Given the description of an element on the screen output the (x, y) to click on. 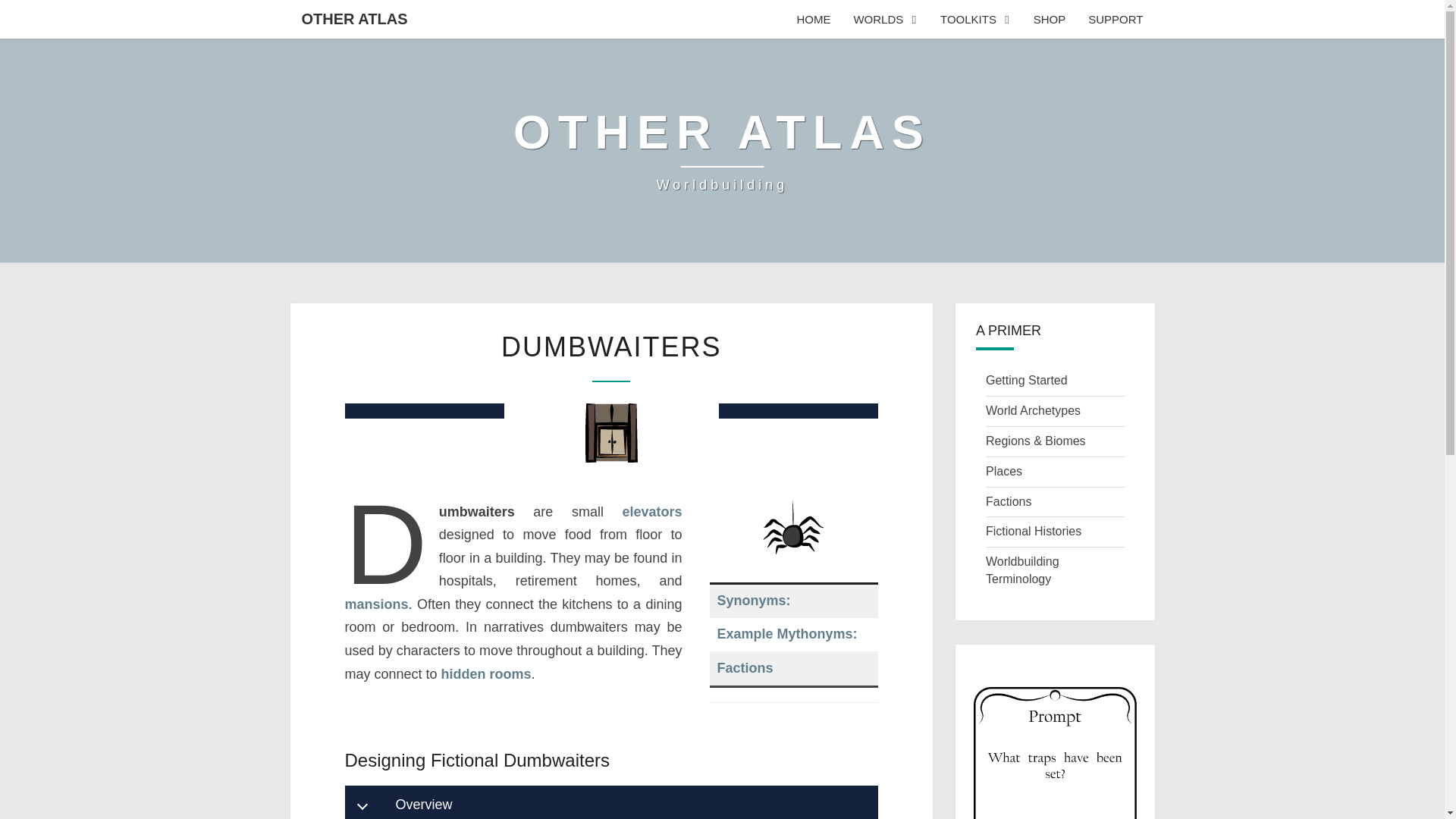
SHOP (1049, 19)
TOOLKITS (975, 19)
elevators (722, 150)
Factions (651, 511)
WORLDS (745, 667)
mansions (884, 19)
Fictional Histories (375, 604)
Example Mythonyms: (1033, 530)
Wigit Tip 139-01 (787, 633)
Worldbuilding Terminology (1055, 753)
hidden rooms (1022, 570)
Getting Started (486, 673)
World Archetypes (1026, 379)
Other Atlas (1032, 410)
